Given the description of an element on the screen output the (x, y) to click on. 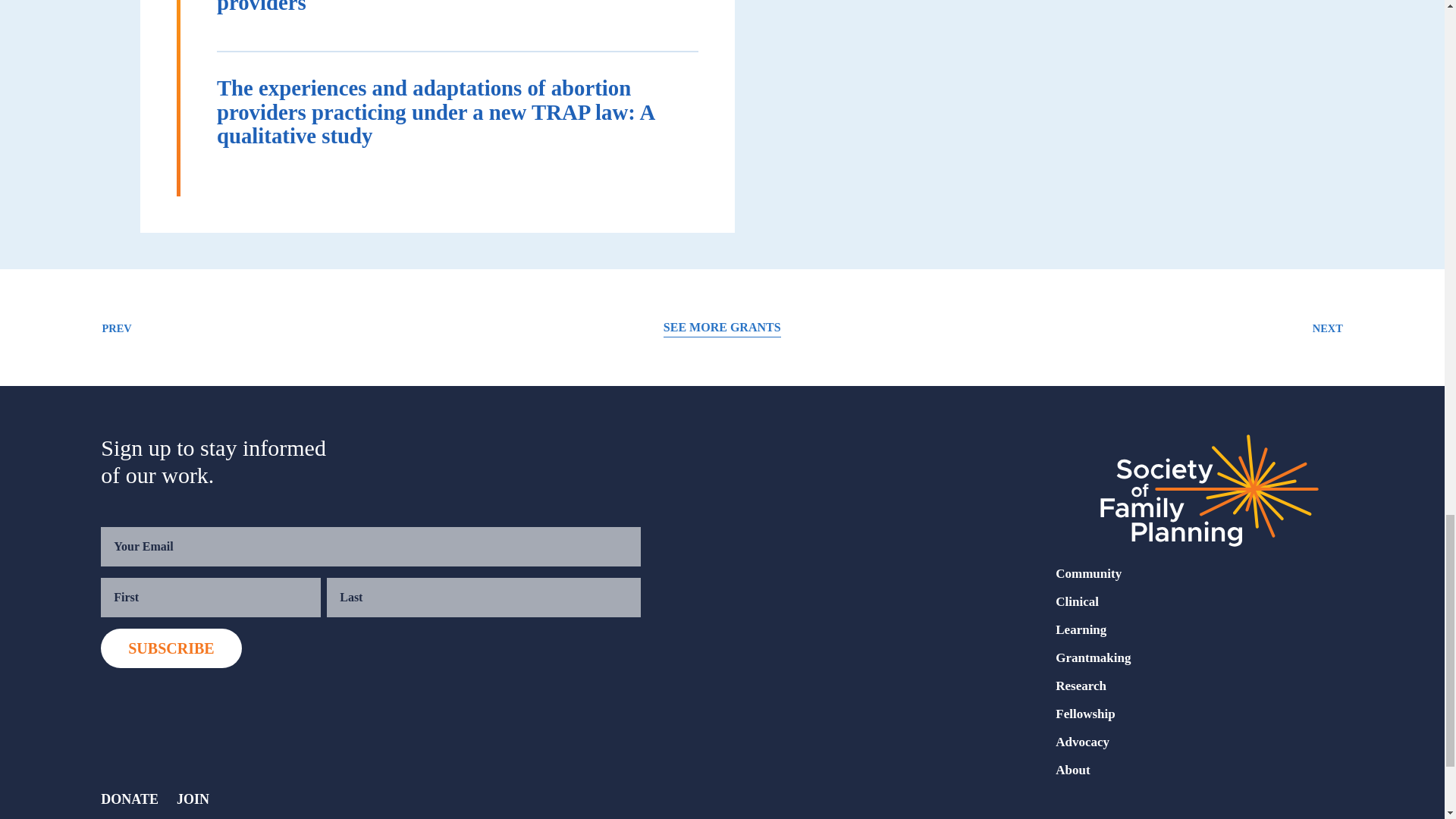
Subscribe (170, 648)
